Given the description of an element on the screen output the (x, y) to click on. 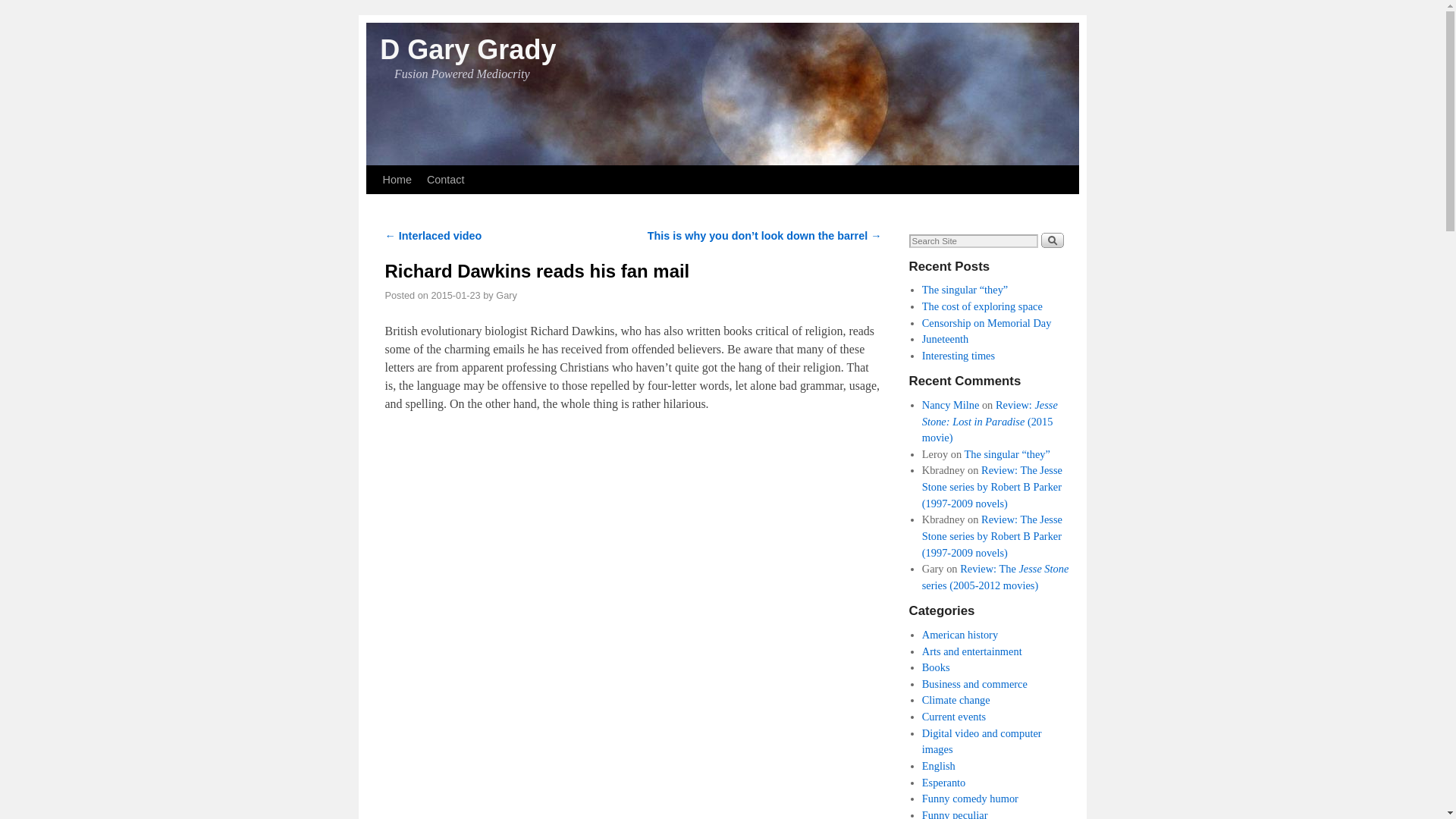
Interesting times (957, 355)
08:55 (455, 295)
Juneteenth (945, 338)
The cost of exploring space (981, 306)
Home (396, 179)
D Gary Grady (468, 49)
Censorship on Memorial Day (986, 322)
Skip to secondary content (412, 172)
Skip to primary content (408, 172)
Contact (445, 179)
View all posts by Gary (506, 295)
Gary (506, 295)
2015-01-23 (455, 295)
D Gary Grady (468, 49)
Nancy Milne (950, 404)
